Given the description of an element on the screen output the (x, y) to click on. 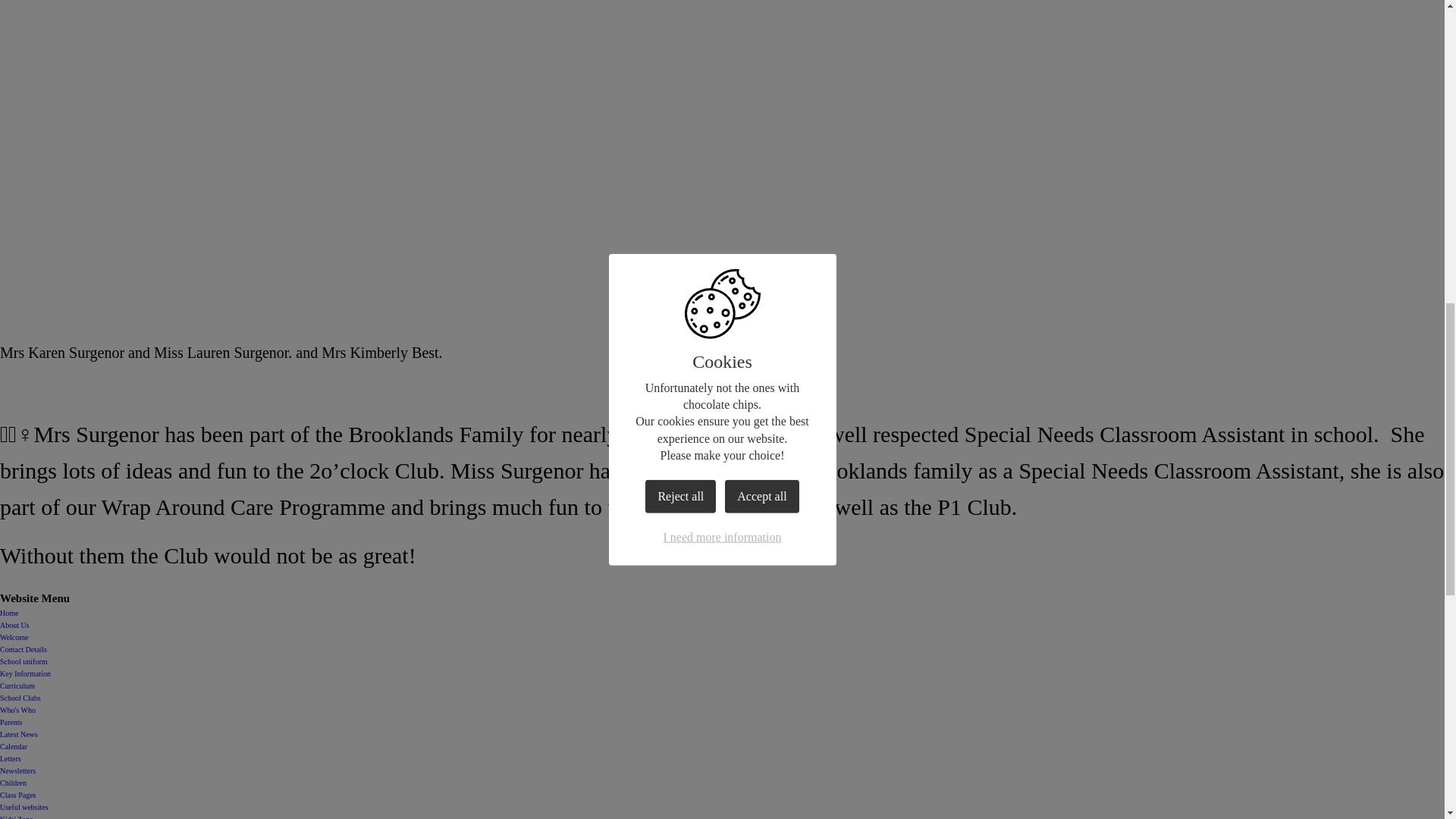
Parents (10, 722)
Who's Who (17, 709)
School Clubs (20, 697)
Home (8, 613)
Useful websites (24, 807)
Calendar (13, 746)
Curriculum (17, 685)
School uniform (24, 661)
Welcome (14, 637)
Contact Details (23, 649)
Latest News (18, 734)
About Us (14, 624)
Key Information (25, 673)
Letters (10, 758)
Class Pages (18, 795)
